Given the description of an element on the screen output the (x, y) to click on. 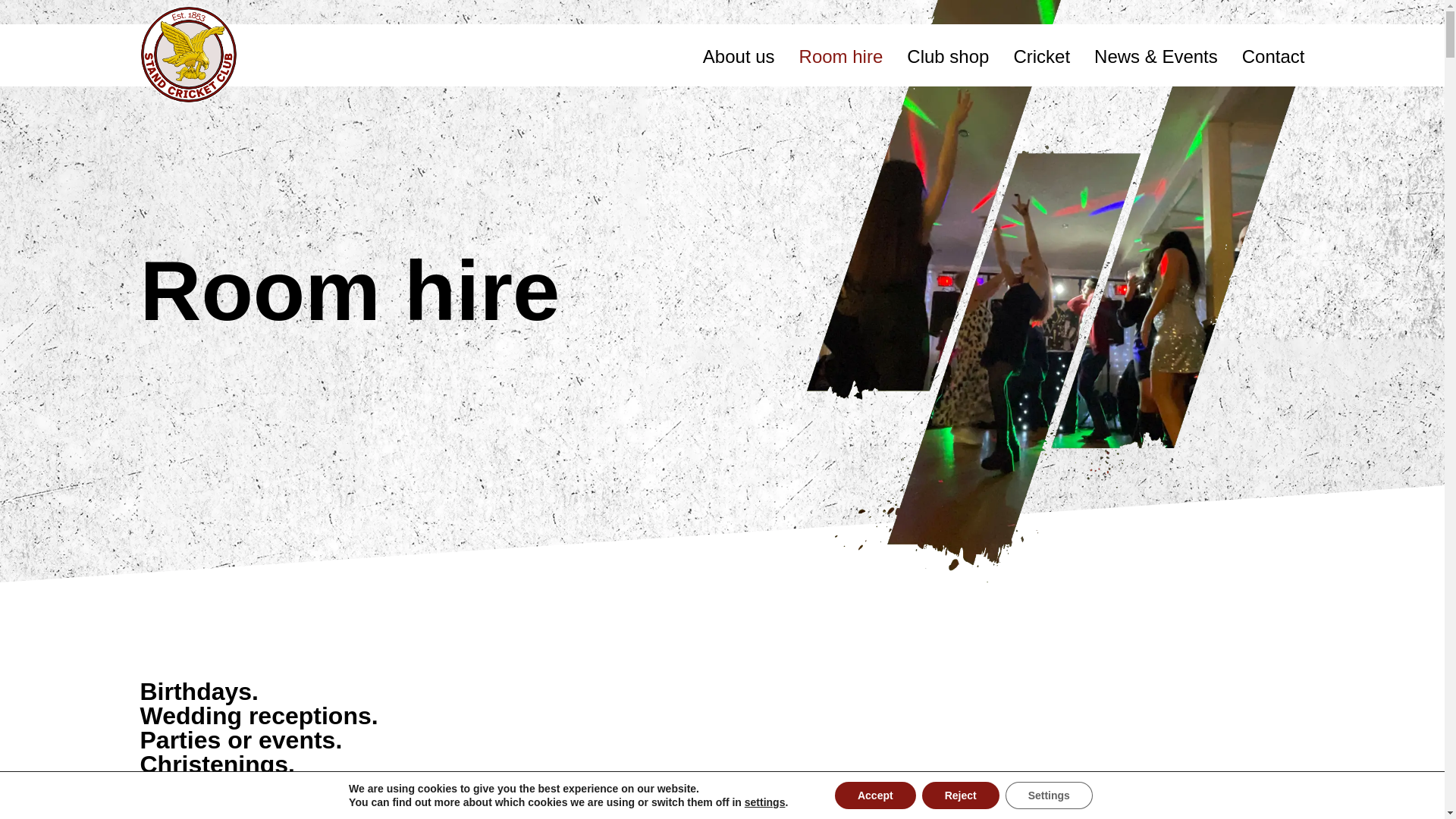
Club shop (947, 55)
Contact (1272, 55)
About us (738, 55)
Cricket (1041, 55)
Room hire (841, 55)
